Given the description of an element on the screen output the (x, y) to click on. 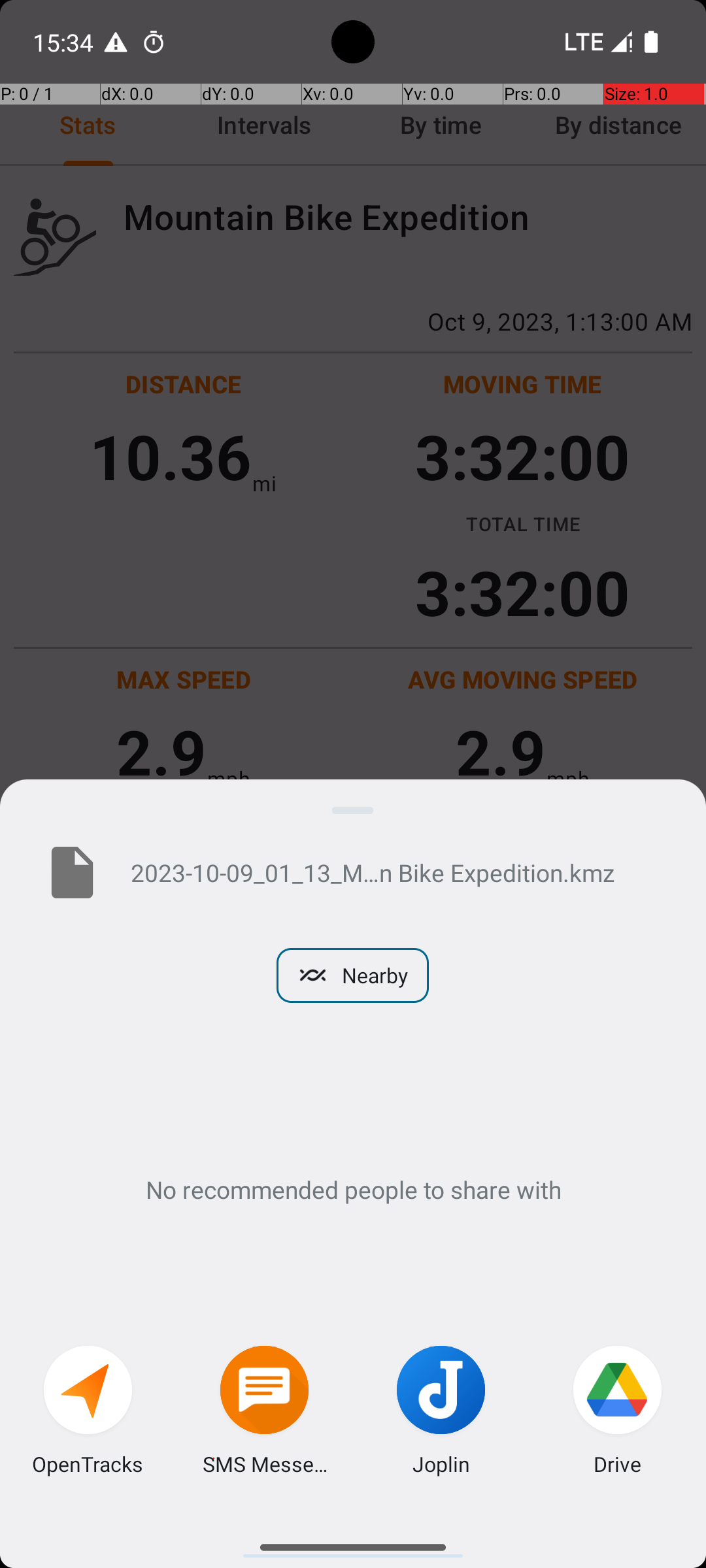
2023-10-09_01_13_Mountain Bike Expedition.kmz Element type: android.widget.TextView (397, 872)
